Given the description of an element on the screen output the (x, y) to click on. 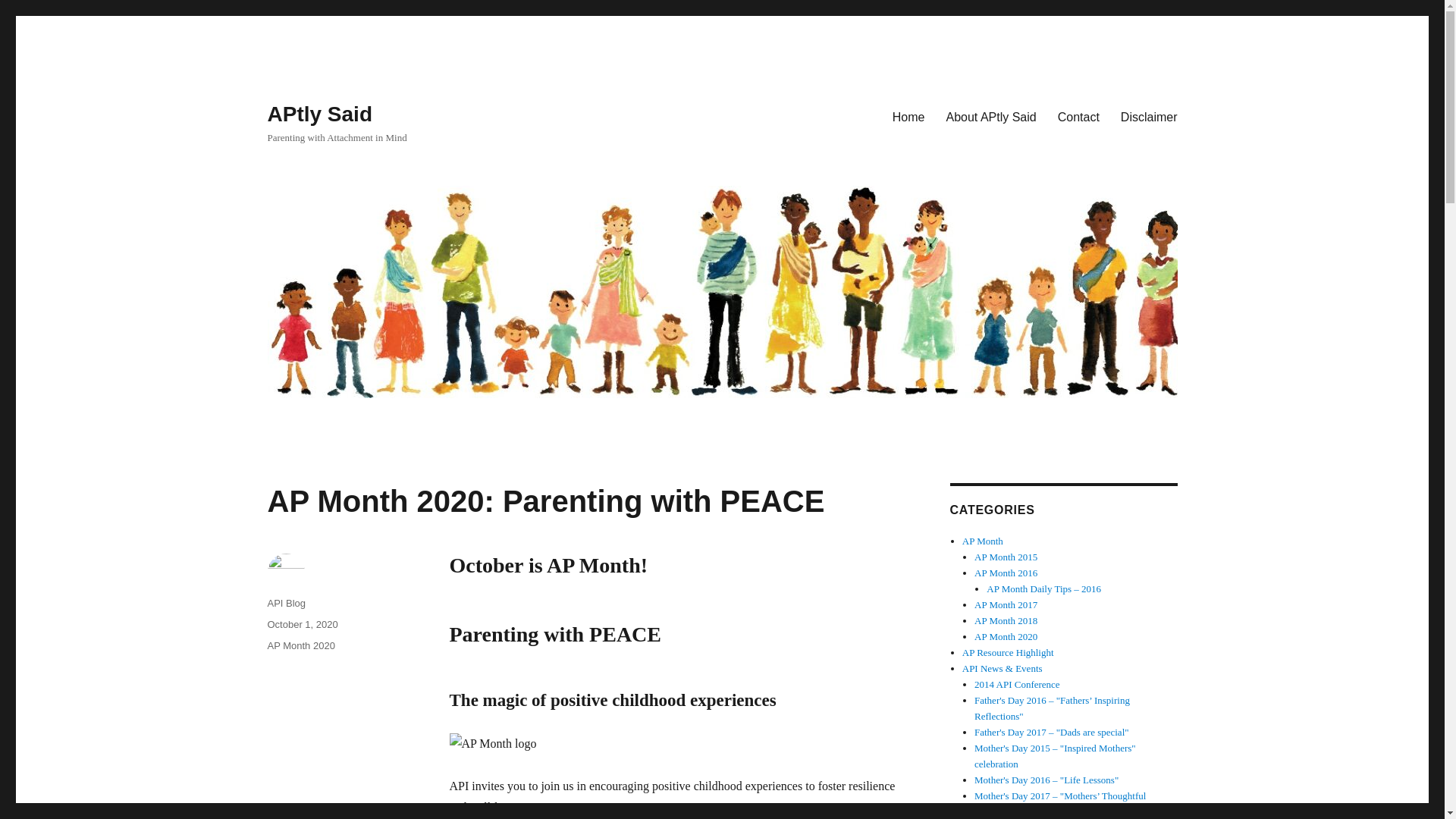
AP Month 2017 (1005, 604)
AP Month 2020 (300, 645)
Contact (1077, 116)
Home (909, 116)
APtly Said (318, 114)
AP Month 2020 (1005, 636)
2014 API Conference (1016, 684)
About APtly Said (991, 116)
AP Month 2018 (1005, 620)
AP Month 2015 (1005, 556)
Disclaimer (1148, 116)
AP Month (982, 541)
API Blog (285, 603)
AP Resource Highlight (1008, 652)
October 1, 2020 (301, 624)
